Given the description of an element on the screen output the (x, y) to click on. 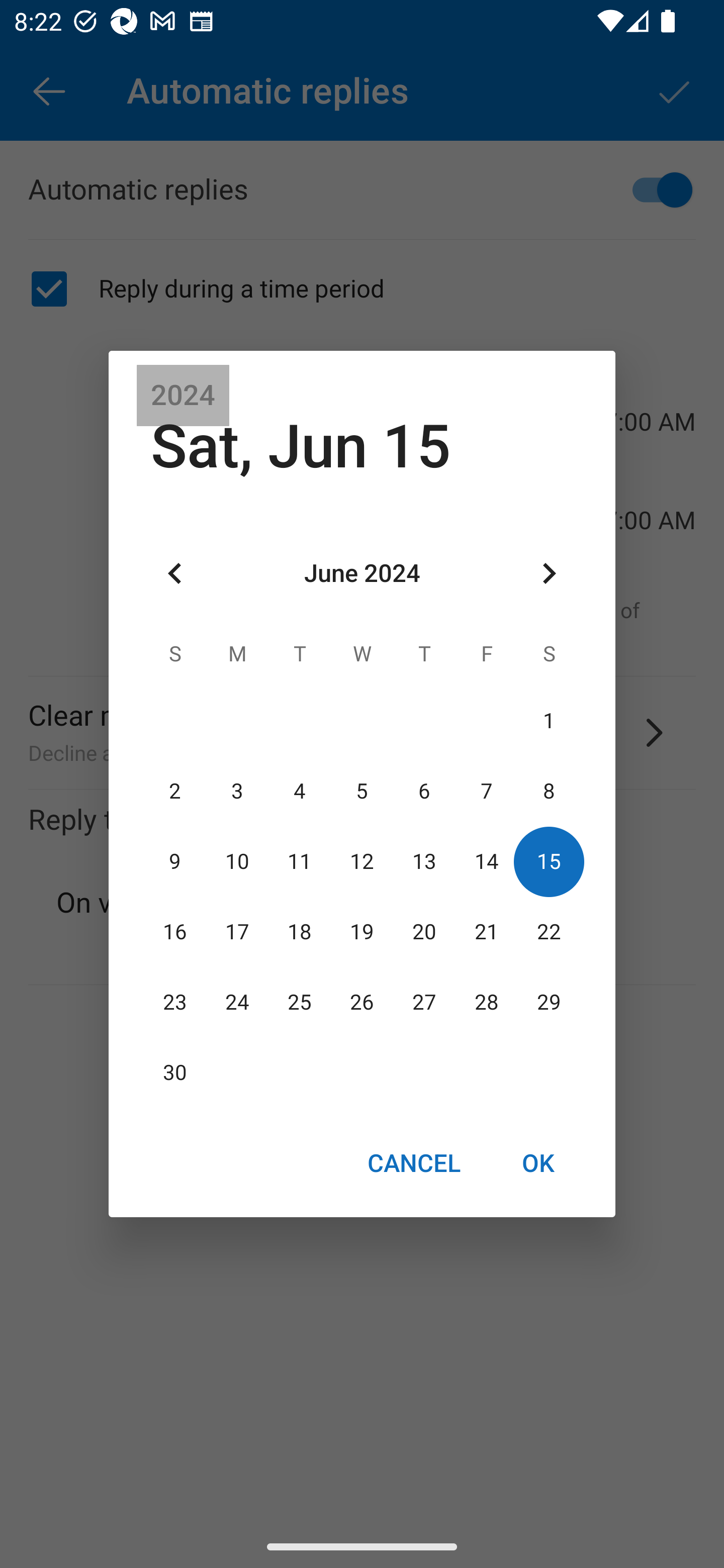
2024 (182, 395)
Sat, Jun 15 (300, 446)
Previous month (174, 573)
Next month (548, 573)
1 01 June 2024 (548, 720)
2 02 June 2024 (175, 790)
3 03 June 2024 (237, 790)
4 04 June 2024 (299, 790)
5 05 June 2024 (361, 790)
6 06 June 2024 (424, 790)
7 07 June 2024 (486, 790)
8 08 June 2024 (548, 790)
9 09 June 2024 (175, 861)
10 10 June 2024 (237, 861)
11 11 June 2024 (299, 861)
12 12 June 2024 (361, 861)
13 13 June 2024 (424, 861)
14 14 June 2024 (486, 861)
15 15 June 2024 (548, 861)
16 16 June 2024 (175, 931)
17 17 June 2024 (237, 931)
18 18 June 2024 (299, 931)
19 19 June 2024 (361, 931)
20 20 June 2024 (424, 931)
21 21 June 2024 (486, 931)
22 22 June 2024 (548, 931)
23 23 June 2024 (175, 1002)
24 24 June 2024 (237, 1002)
25 25 June 2024 (299, 1002)
26 26 June 2024 (361, 1002)
27 27 June 2024 (424, 1002)
28 28 June 2024 (486, 1002)
29 29 June 2024 (548, 1002)
30 30 June 2024 (175, 1073)
CANCEL (413, 1162)
OK (537, 1162)
